Given the description of an element on the screen output the (x, y) to click on. 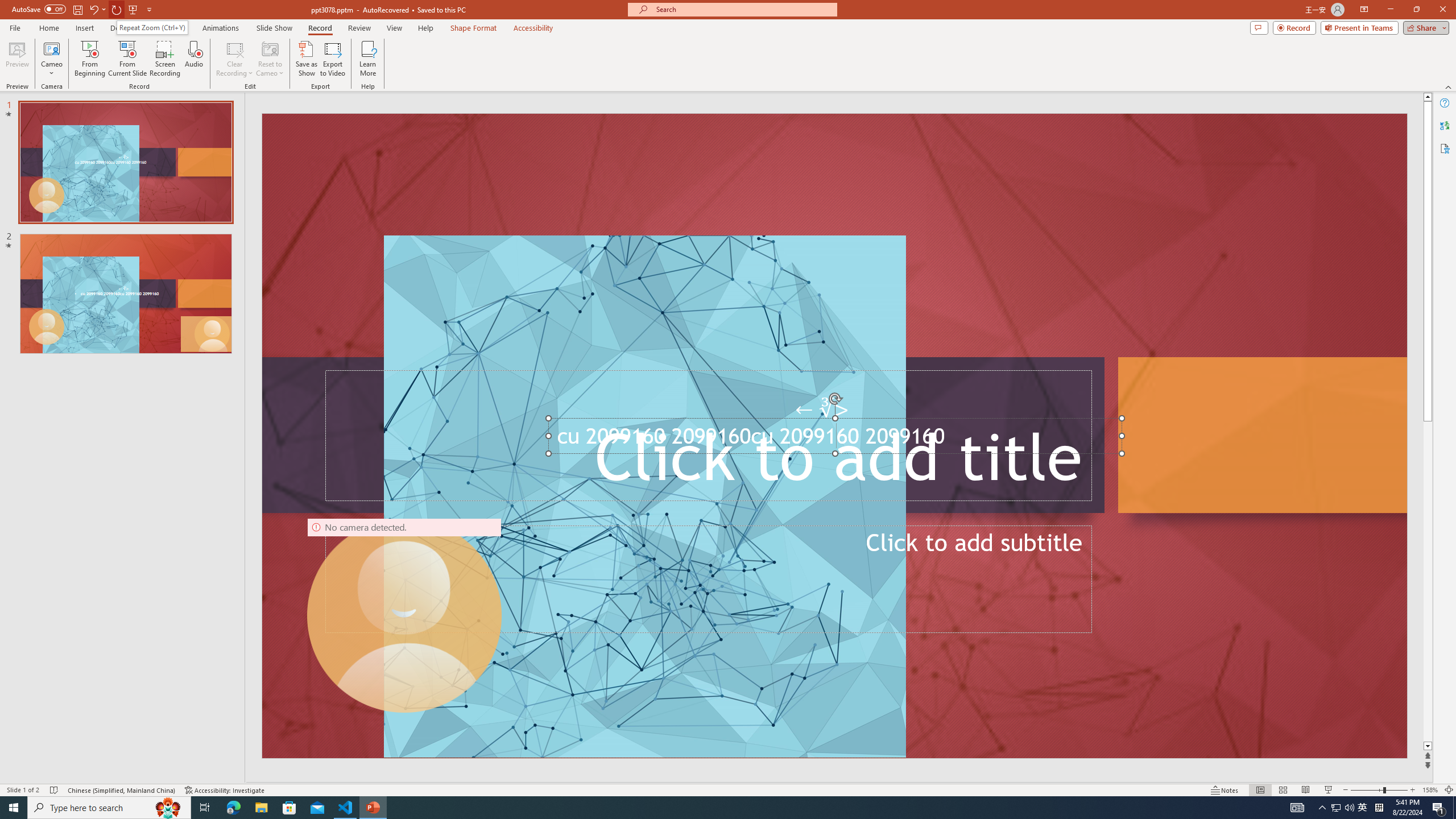
TextBox 61 (832, 438)
Screen Recording (165, 58)
An abstract genetic concept (834, 435)
From Current Slide... (127, 58)
Save as Show (306, 58)
Zoom 158% (1430, 790)
TextBox 7 (822, 409)
